Given the description of an element on the screen output the (x, y) to click on. 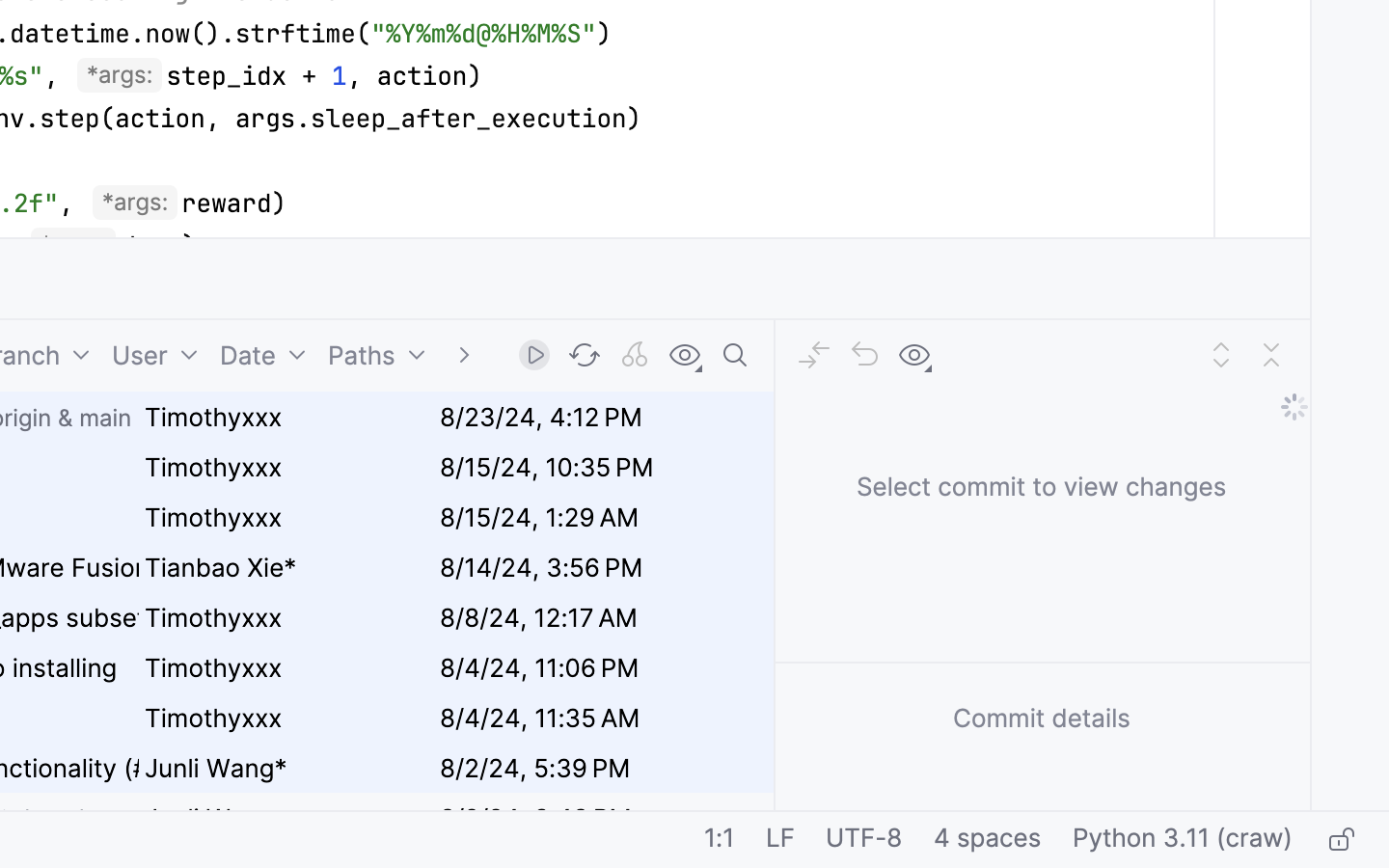
LF Element type: AXStaticText (780, 840)
